Given the description of an element on the screen output the (x, y) to click on. 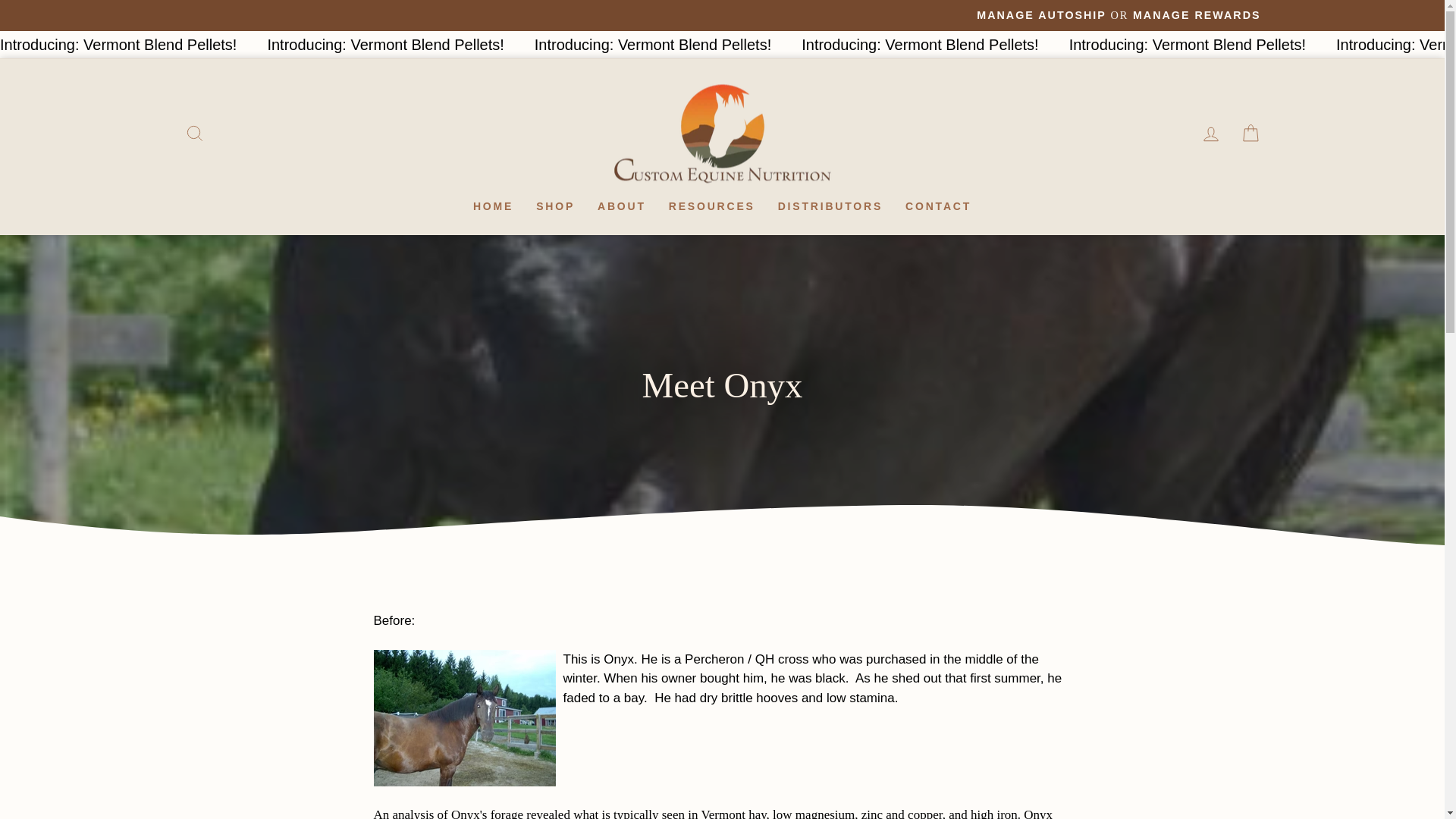
MANAGE REWARDS (1196, 15)
ICON-SEARCH (194, 133)
MANAGE AUTOSHIP (1041, 15)
ACCOUNT (1210, 133)
HOME (1210, 133)
CART (492, 206)
